Given the description of an element on the screen output the (x, y) to click on. 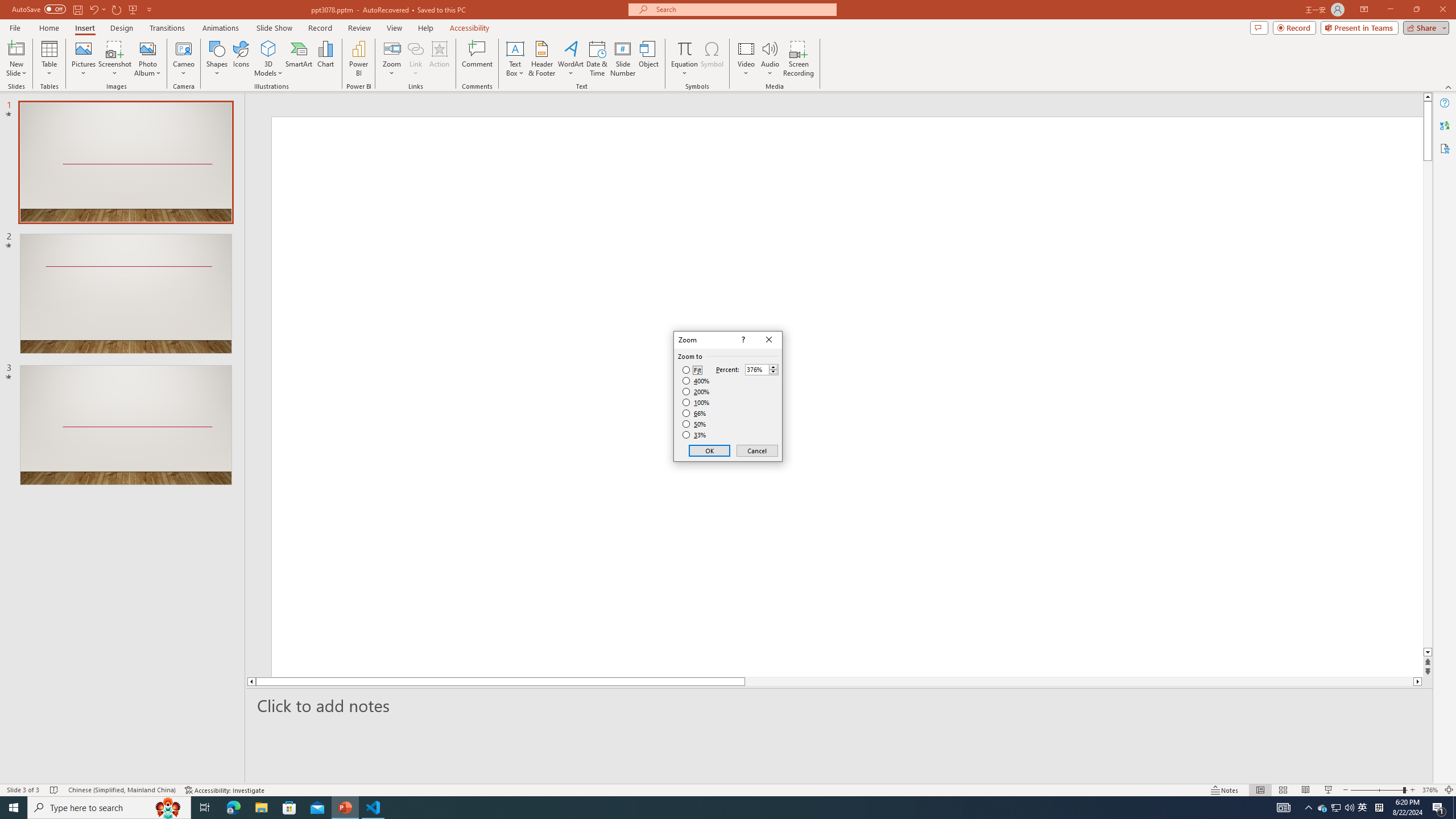
Audio (769, 58)
Show desktop (1454, 807)
Action (439, 58)
Shapes (216, 58)
Cancel (756, 450)
File Explorer (261, 807)
Page down (1427, 406)
Context help (742, 339)
Cameo (183, 48)
Tray Input Indicator - Chinese (Simplified, China) (1378, 807)
